Given the description of an element on the screen output the (x, y) to click on. 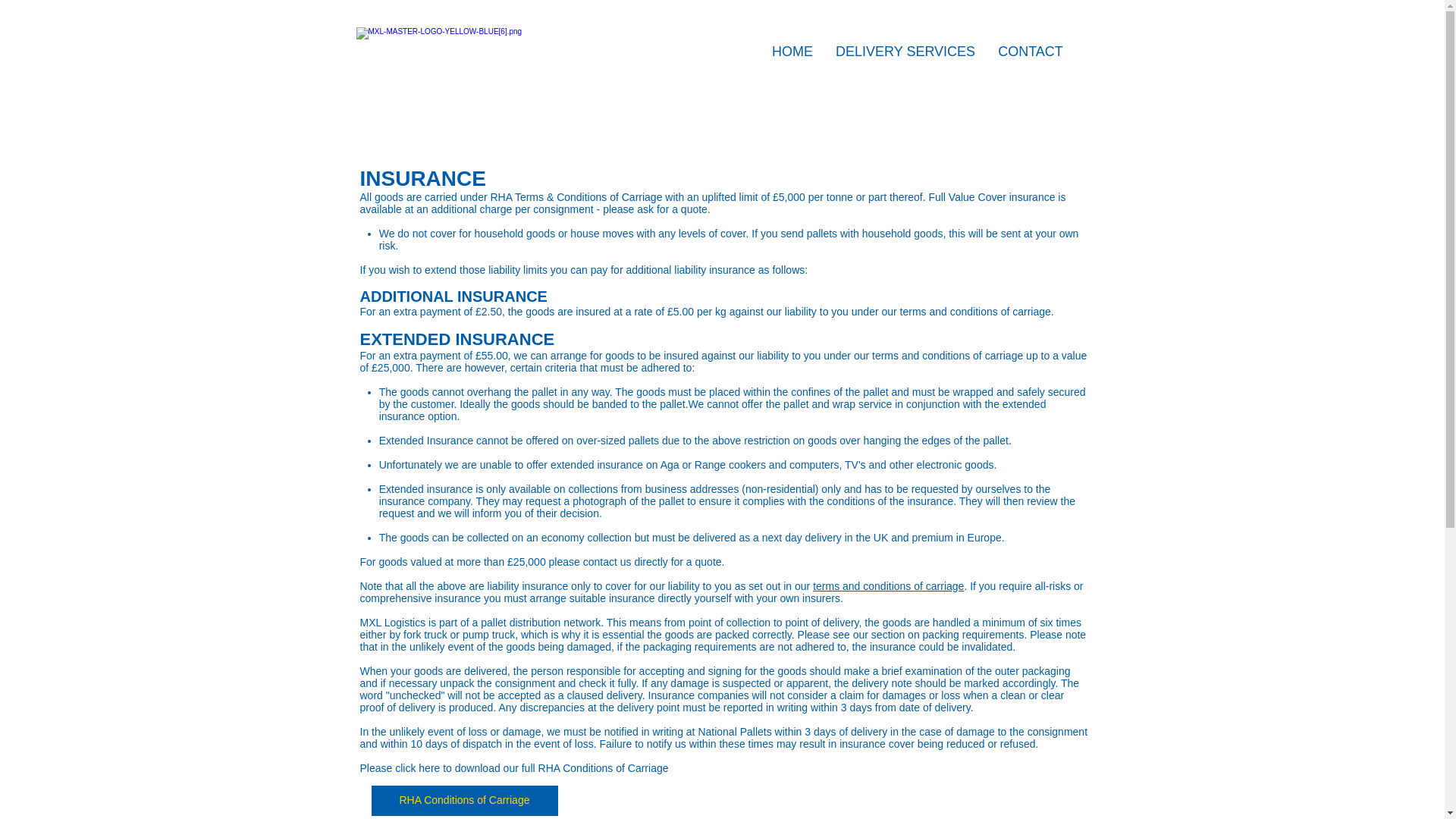
RHA Conditions of Carriage (464, 800)
terms and conditions of carriage (887, 585)
DELIVERY SERVICES (905, 51)
CONTACT (1030, 51)
HOME (792, 51)
